Given the description of an element on the screen output the (x, y) to click on. 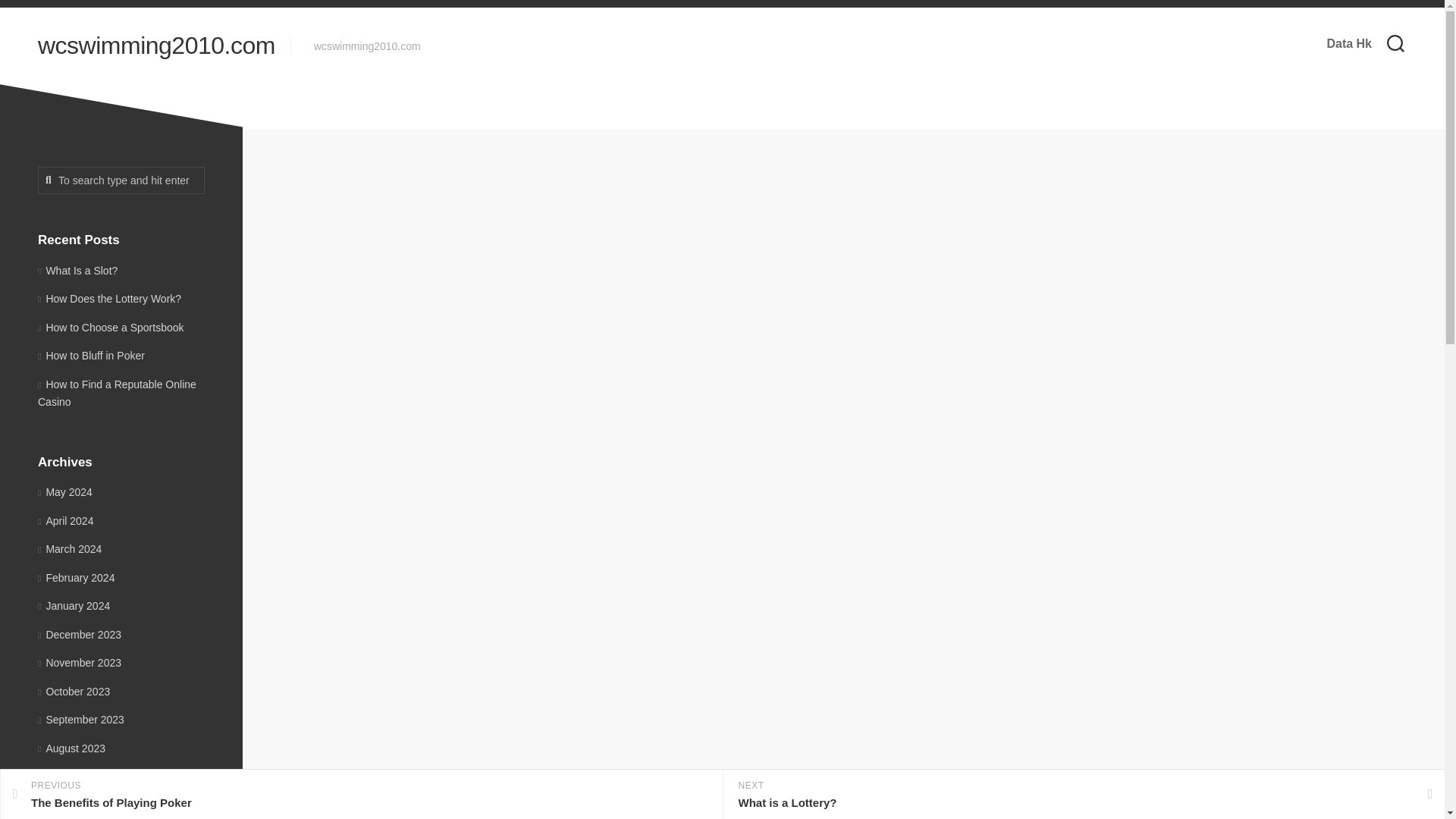
To search type and hit enter (121, 180)
How to Bluff in Poker (90, 355)
April 2024 (65, 520)
How to Choose a Sportsbook (110, 327)
Gambling (842, 232)
What Is a Slot? (77, 269)
How Does the Lottery Work? (108, 298)
September 2023 (80, 719)
February 2024 (76, 577)
Posts by wcswimming2010 (757, 232)
How to Find a Reputable Online Casino (116, 392)
May 2024 (65, 491)
wcswimming2010 (757, 232)
November 2023 (78, 662)
June 2023 (66, 805)
